Given the description of an element on the screen output the (x, y) to click on. 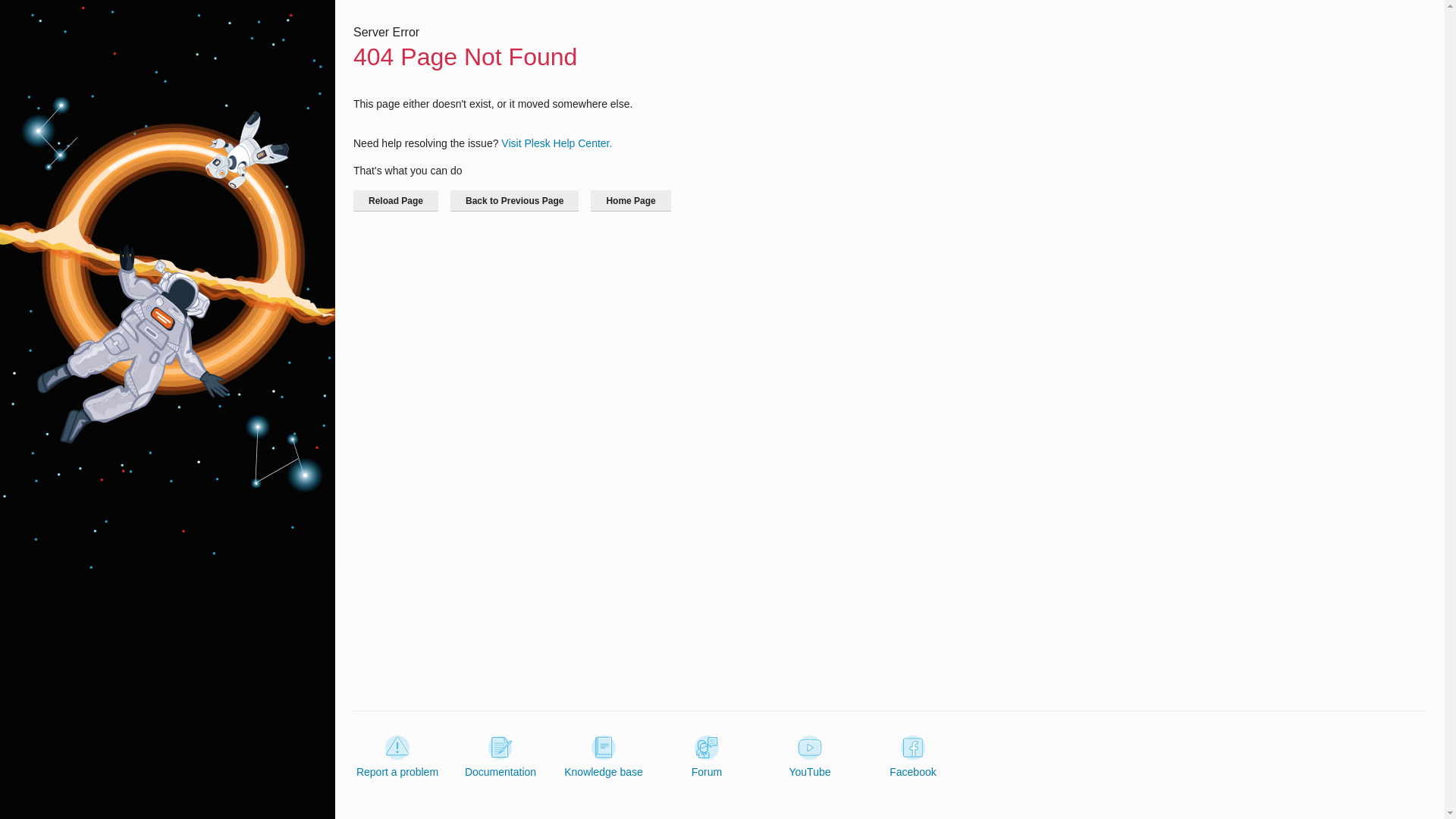
Facebook (912, 757)
Knowledge base (603, 757)
Forum (706, 757)
Report a problem (397, 757)
Back to Previous Page (513, 200)
Documentation (500, 757)
Reload Page (395, 200)
YouTube (809, 757)
Visit Plesk Help Center. (555, 143)
Home Page (630, 200)
